Given the description of an element on the screen output the (x, y) to click on. 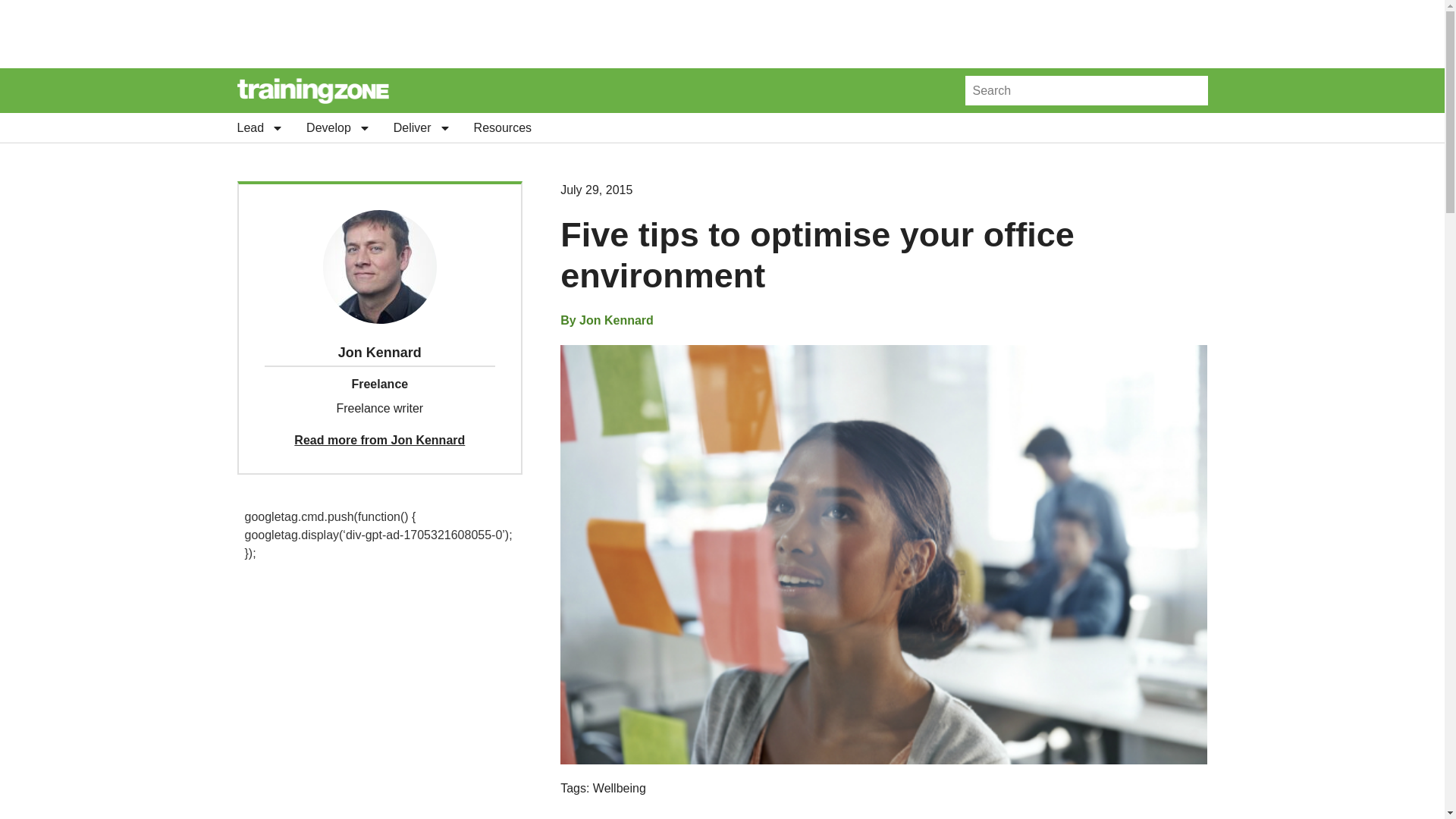
Wellbeing (619, 788)
Deliver (422, 127)
Lead (259, 127)
Read more from Jon Kennard (379, 440)
Resources (502, 127)
By Jon Kennard (606, 321)
Develop (338, 127)
